Given the description of an element on the screen output the (x, y) to click on. 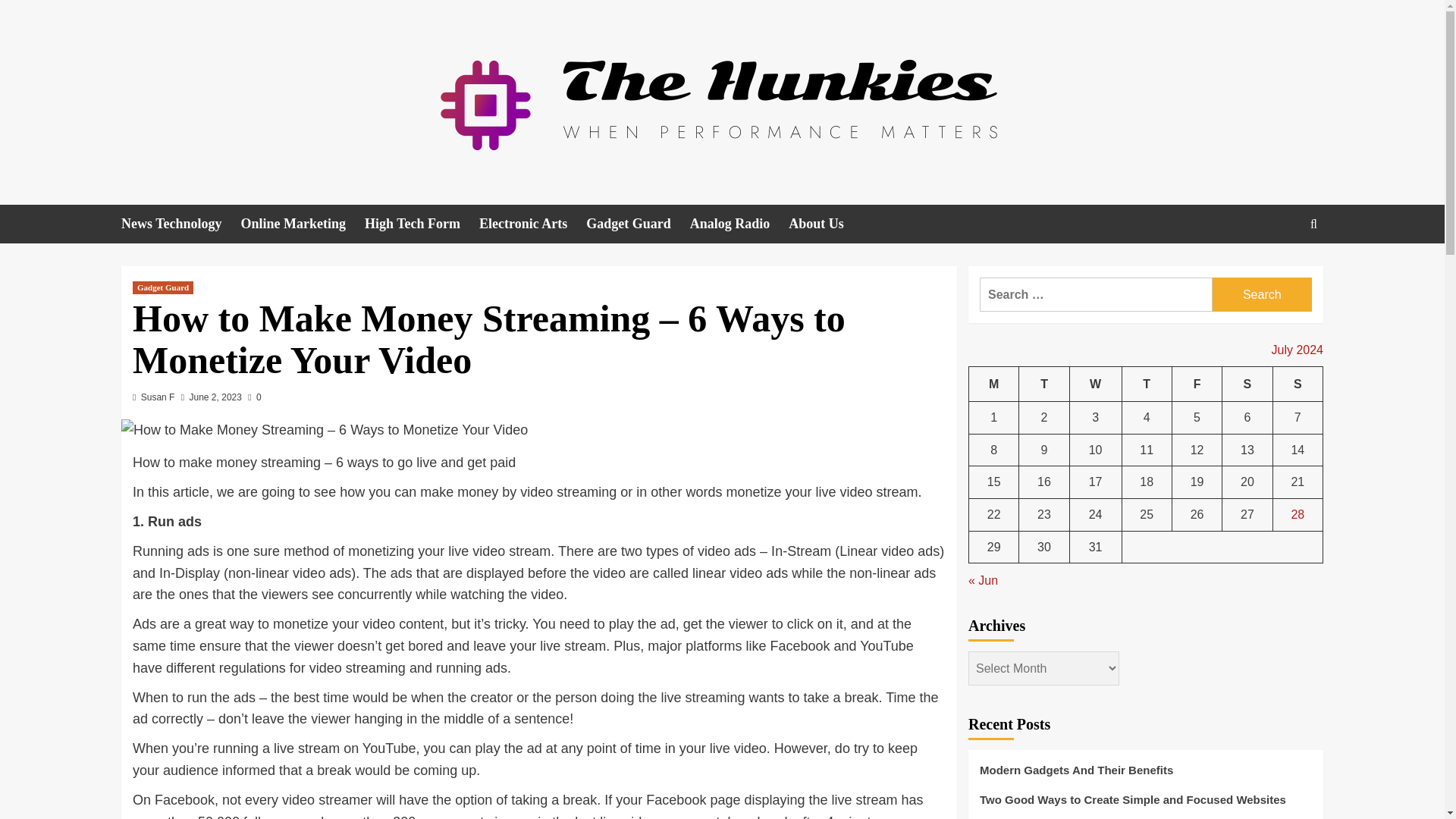
About Us (826, 223)
Monday (994, 384)
Search (1278, 270)
High Tech Form (422, 223)
Analog Radio (739, 223)
Search (1313, 223)
Online Marketing (303, 223)
Search (1261, 294)
Gadget Guard (638, 223)
Gadget Guard (162, 287)
News Technology (180, 223)
Saturday (1247, 384)
0 (253, 397)
June 2, 2023 (215, 397)
Electronic Arts (532, 223)
